Given the description of an element on the screen output the (x, y) to click on. 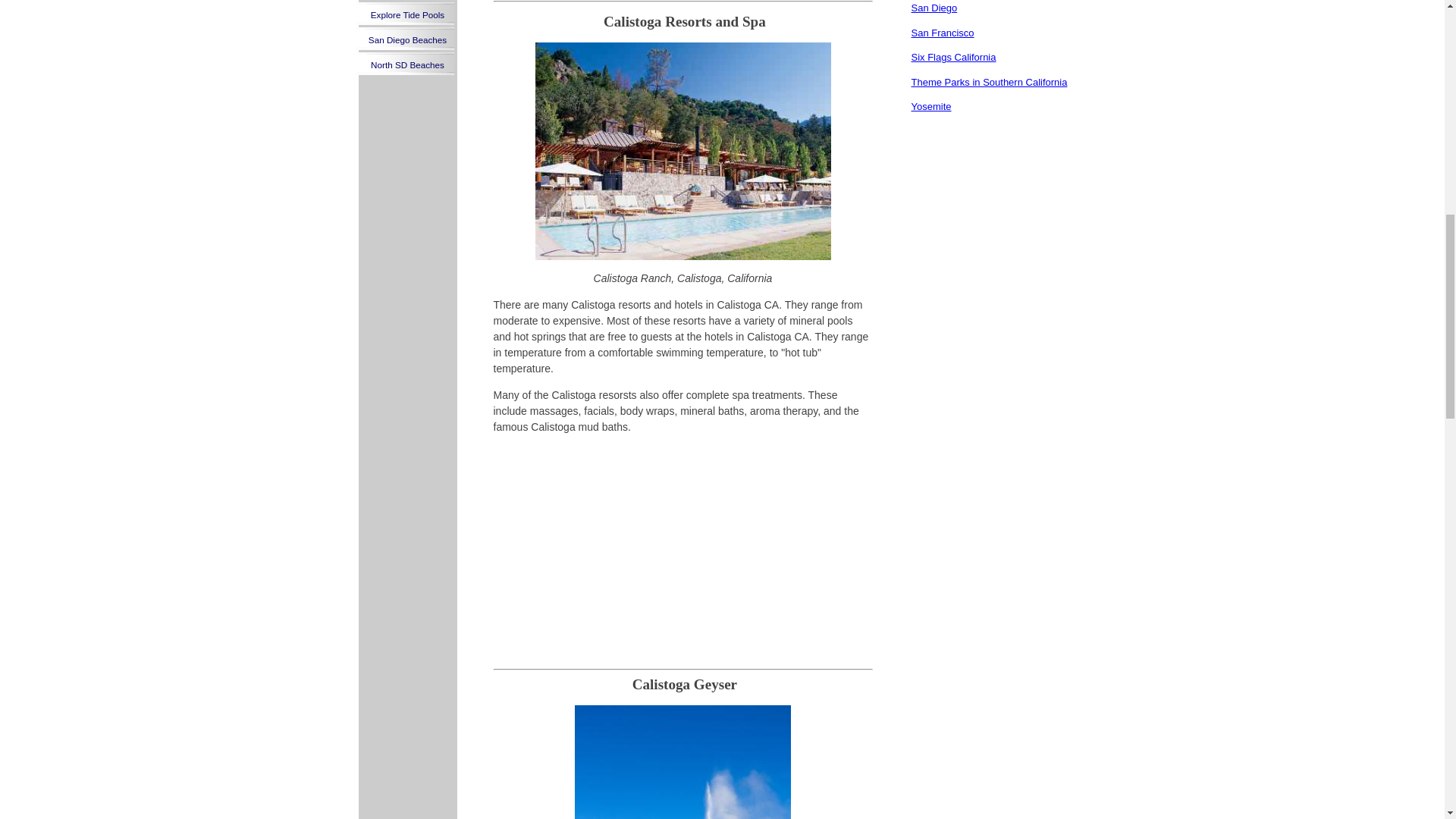
Calistoga Resort (683, 151)
Beach Fun (407, 1)
Advertisement (681, 551)
Explore Tide Pools (407, 14)
Calistoga Geyser (682, 762)
